Given the description of an element on the screen output the (x, y) to click on. 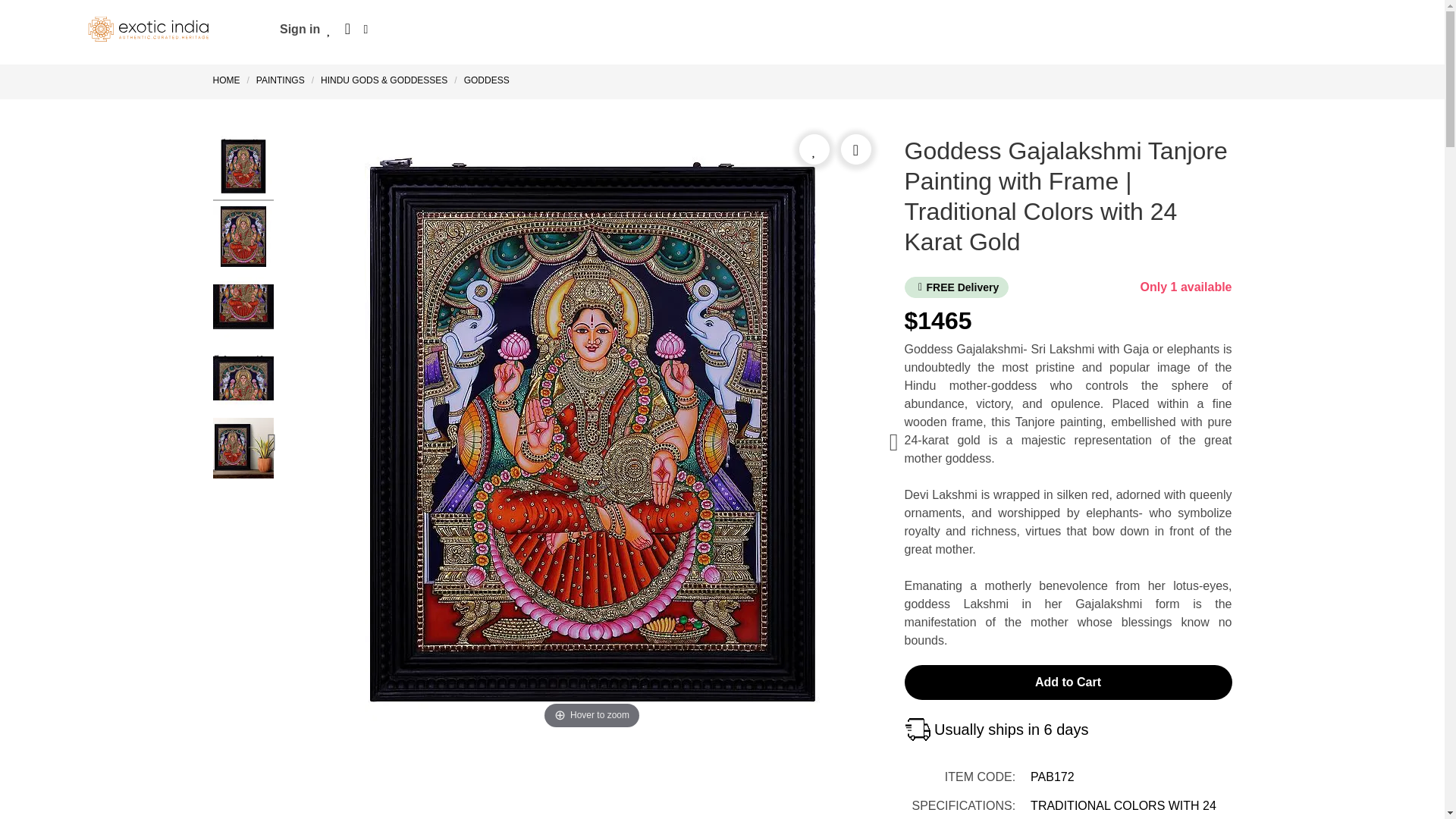
Wishlist (328, 29)
GODDESS (486, 79)
PAINTINGS (279, 79)
HOME (229, 79)
Sign in (299, 29)
Goddess (486, 79)
Sign in (299, 29)
Save to Wishlist (814, 149)
Paintings (279, 79)
Home (229, 79)
